Given the description of an element on the screen output the (x, y) to click on. 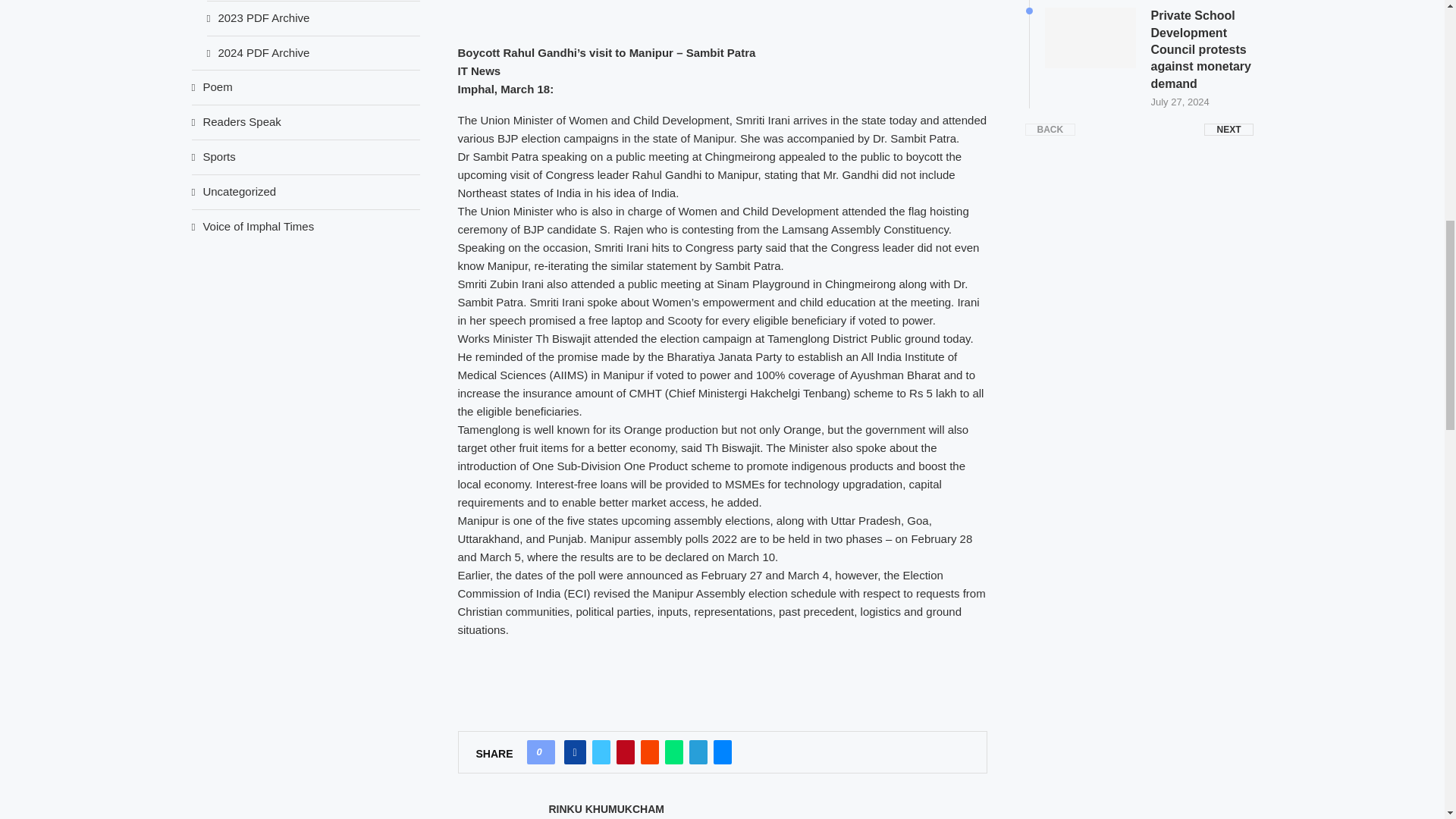
Author Rinku Khumukcham (605, 809)
1itnews (722, 12)
